Given the description of an element on the screen output the (x, y) to click on. 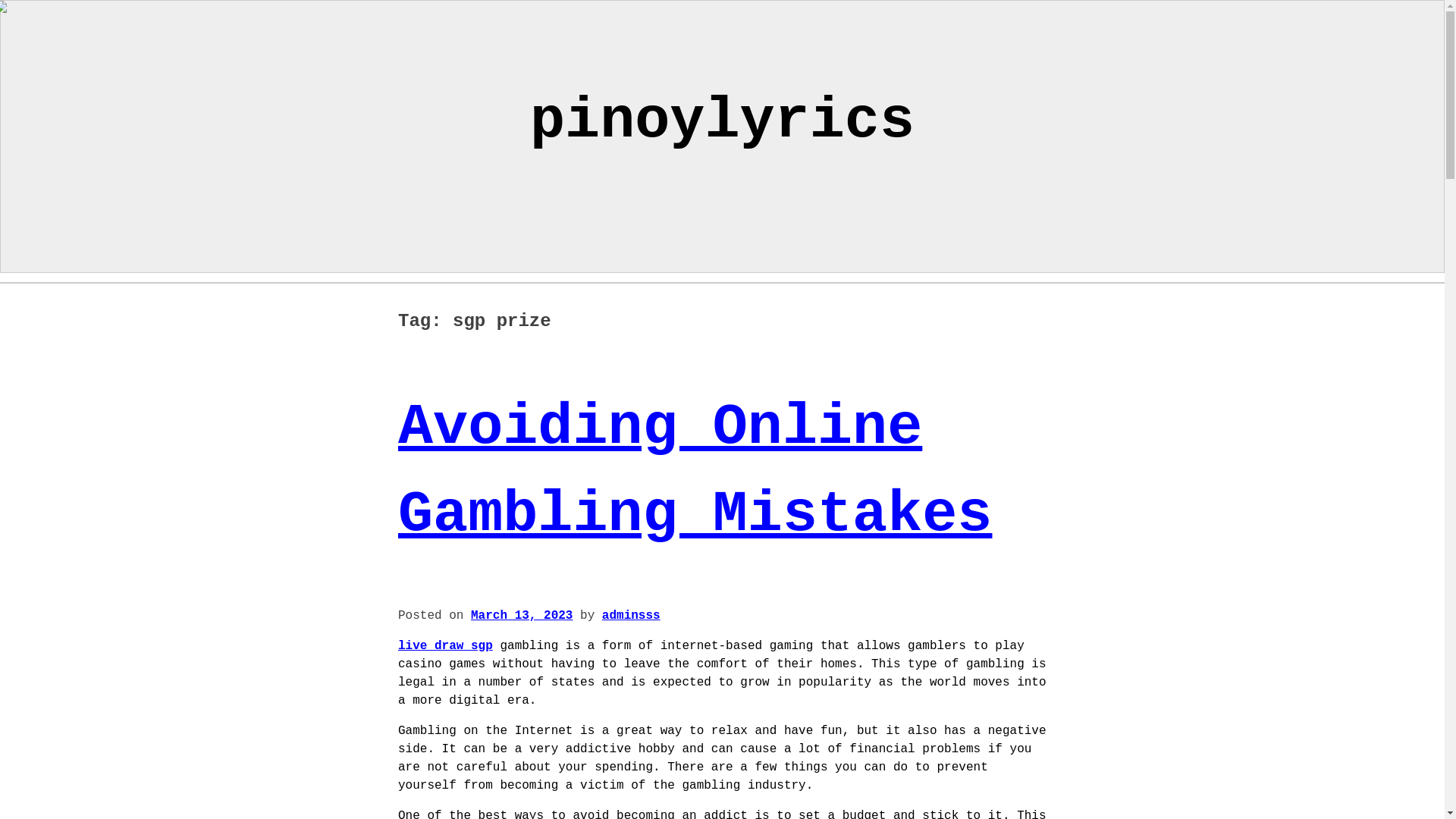
Avoiding Online Gambling Mistakes (694, 470)
March 13, 2023 (521, 615)
adminsss (631, 615)
live draw sgp (445, 645)
pinoylyrics (721, 120)
